Given the description of an element on the screen output the (x, y) to click on. 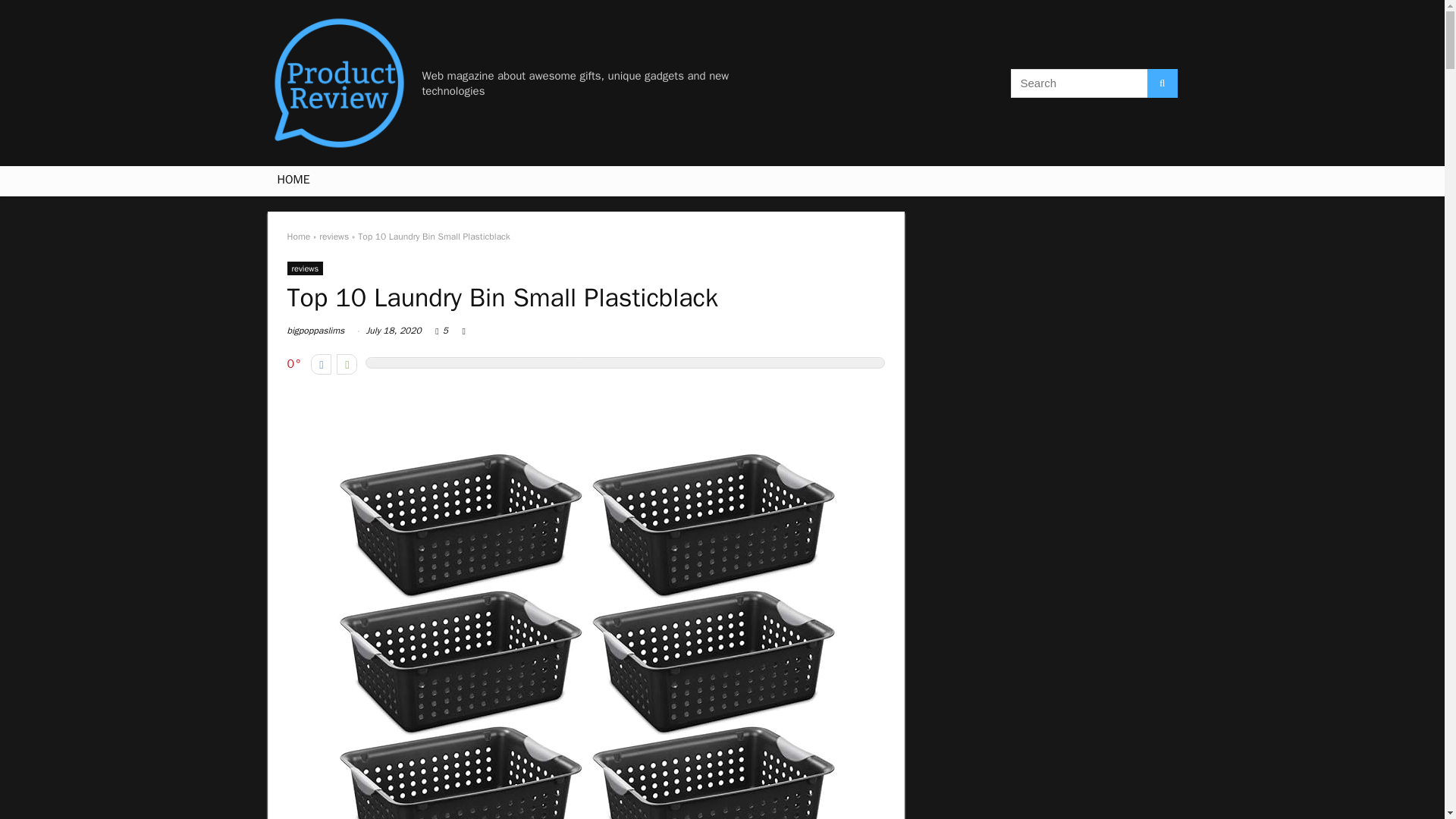
View all posts in reviews (304, 268)
Vote up (346, 363)
reviews (304, 268)
HOME (292, 181)
Vote down (321, 363)
Home (298, 236)
bigpoppaslims (314, 330)
reviews (333, 236)
